Given the description of an element on the screen output the (x, y) to click on. 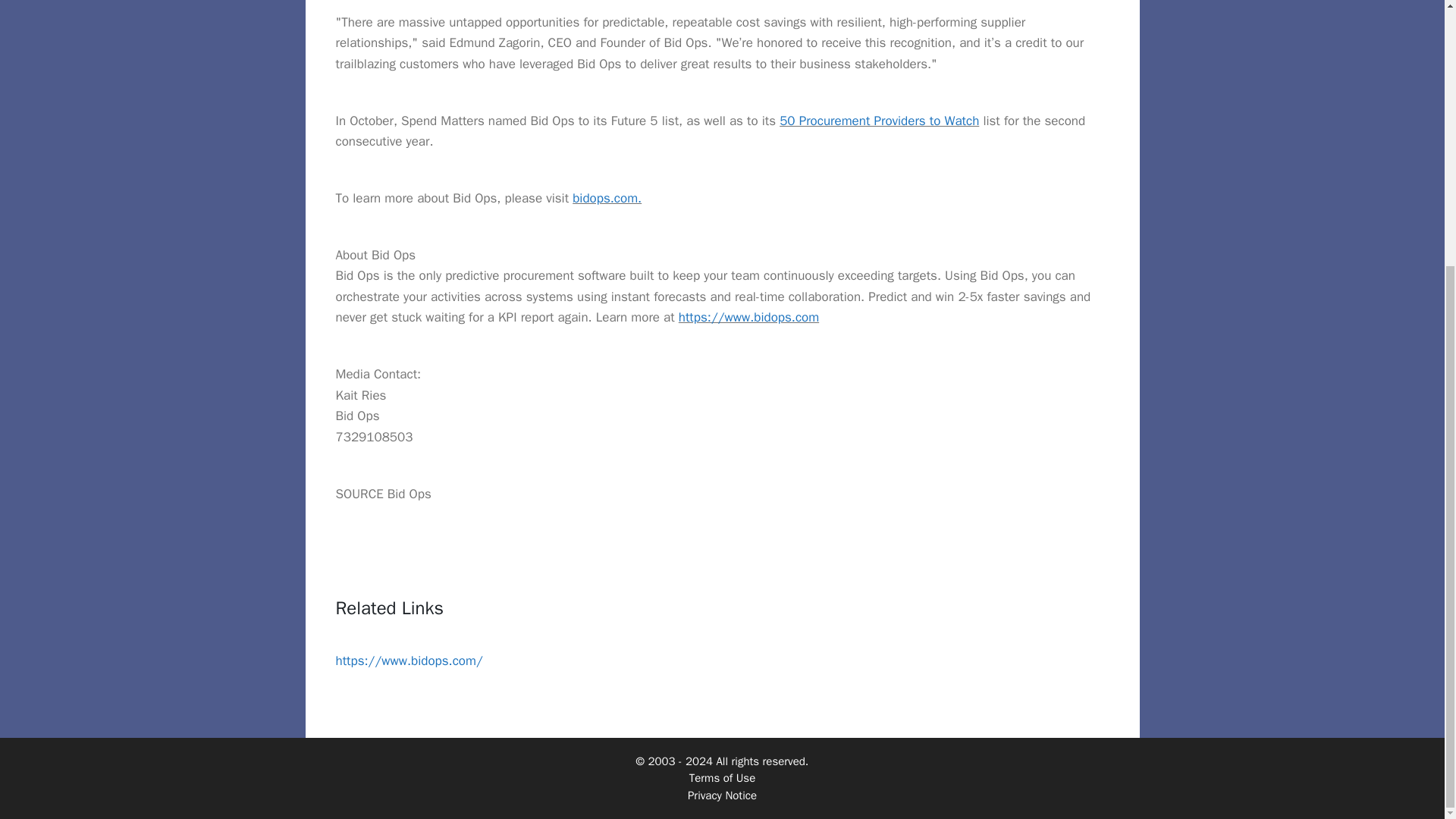
Terms of Use (721, 777)
50 Procurement Providers to Watch (878, 120)
Privacy Notice (722, 795)
bidops.com. (607, 198)
